Given the description of an element on the screen output the (x, y) to click on. 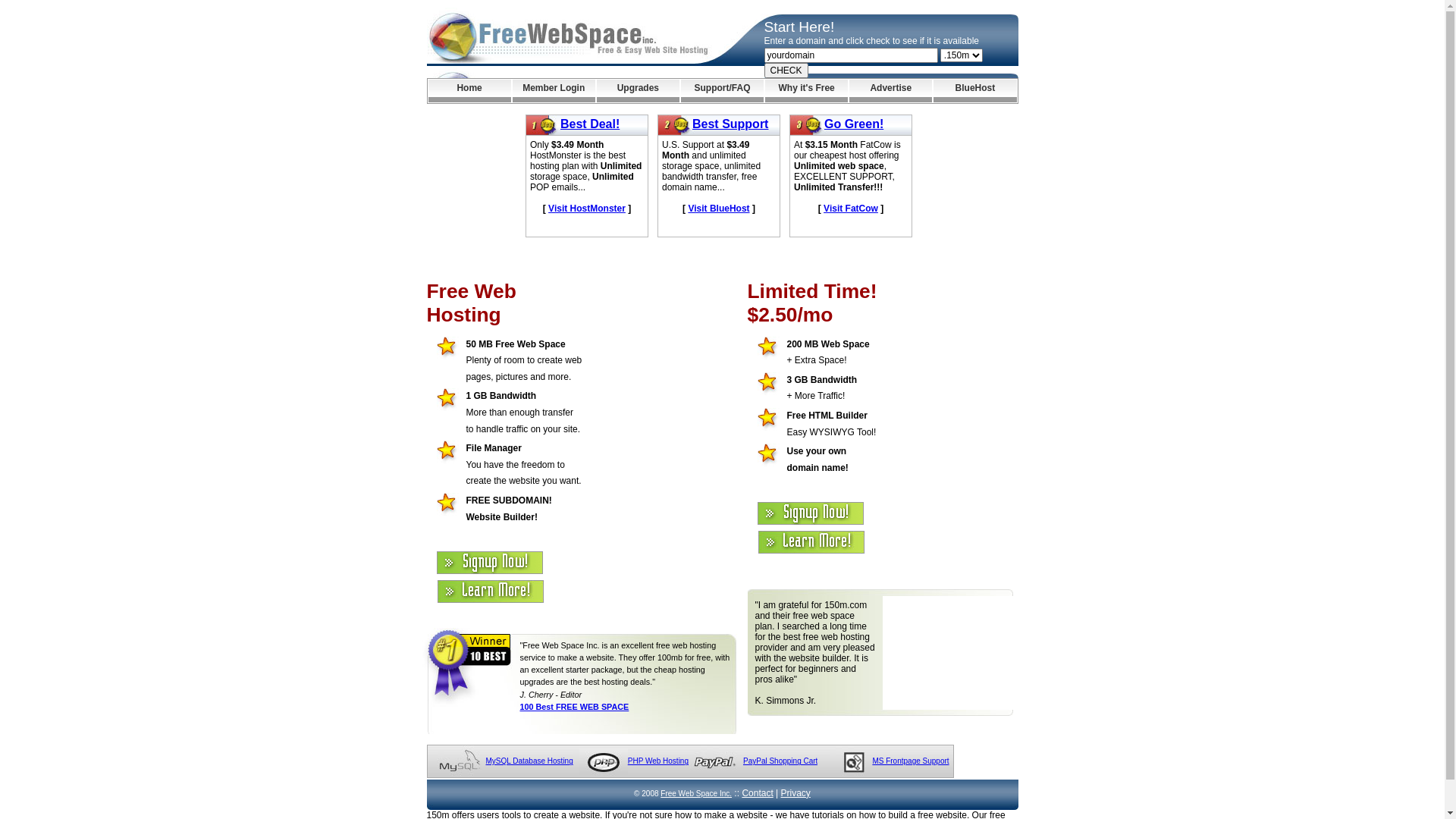
CHECK Element type: text (786, 70)
Home Element type: text (468, 90)
Member Login Element type: text (553, 90)
100 Best FREE WEB SPACE Element type: text (574, 706)
PayPal Shopping Cart Element type: text (780, 760)
BlueHost Element type: text (974, 90)
Upgrades Element type: text (637, 90)
MS Frontpage Support Element type: text (910, 760)
Why it's Free Element type: text (806, 90)
MySQL Database Hosting Element type: text (528, 760)
Free Web Space Inc. Element type: text (695, 793)
PHP Web Hosting Element type: text (657, 760)
Advertise Element type: text (890, 90)
Support/FAQ Element type: text (721, 90)
Privacy Element type: text (795, 792)
Contact Element type: text (756, 792)
